Given the description of an element on the screen output the (x, y) to click on. 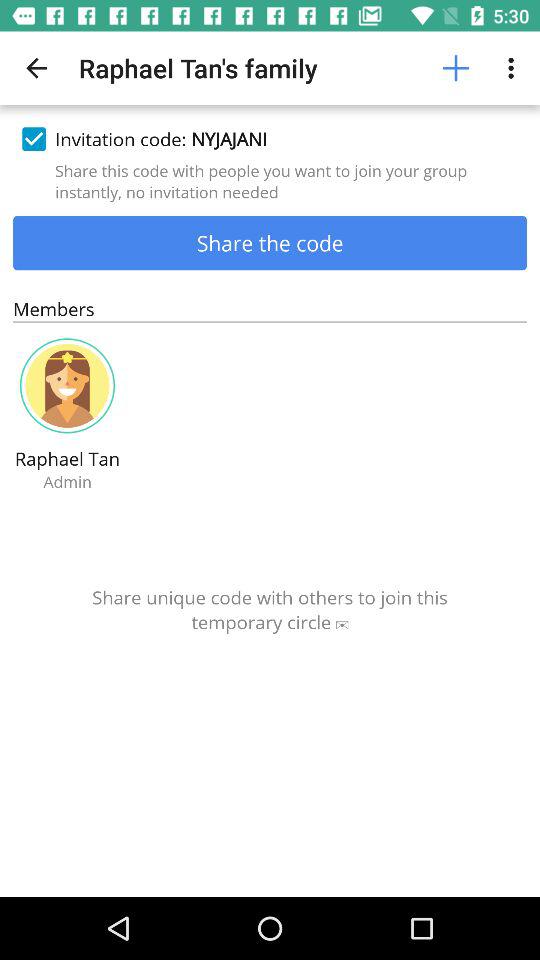
open the icon above invitation code: nyjajani icon (36, 68)
